Given the description of an element on the screen output the (x, y) to click on. 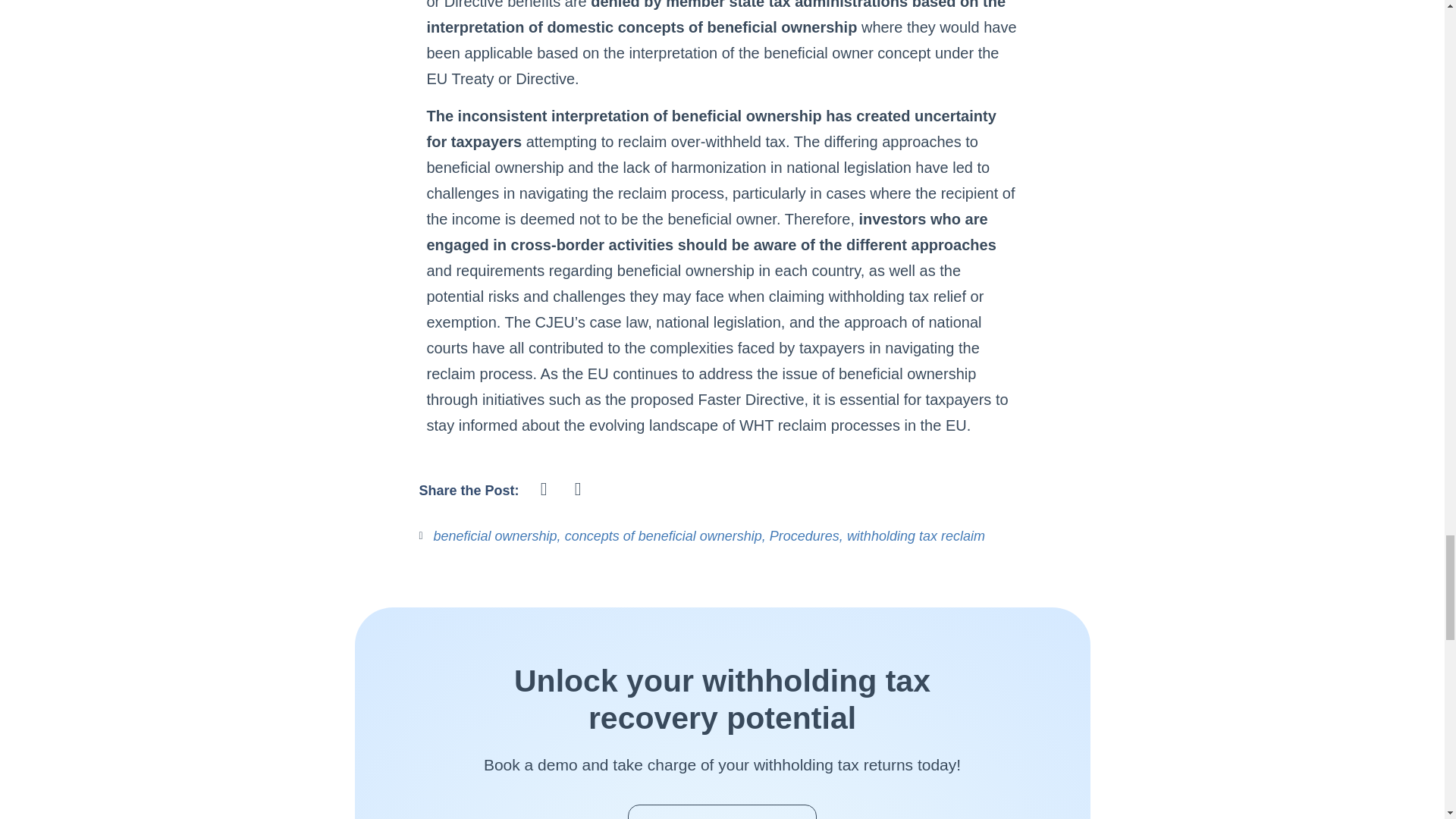
withholding tax reclaim (916, 535)
Schedule a Demo (721, 811)
beneficial ownership (495, 535)
Procedures (805, 535)
concepts of beneficial ownership (662, 535)
